Given the description of an element on the screen output the (x, y) to click on. 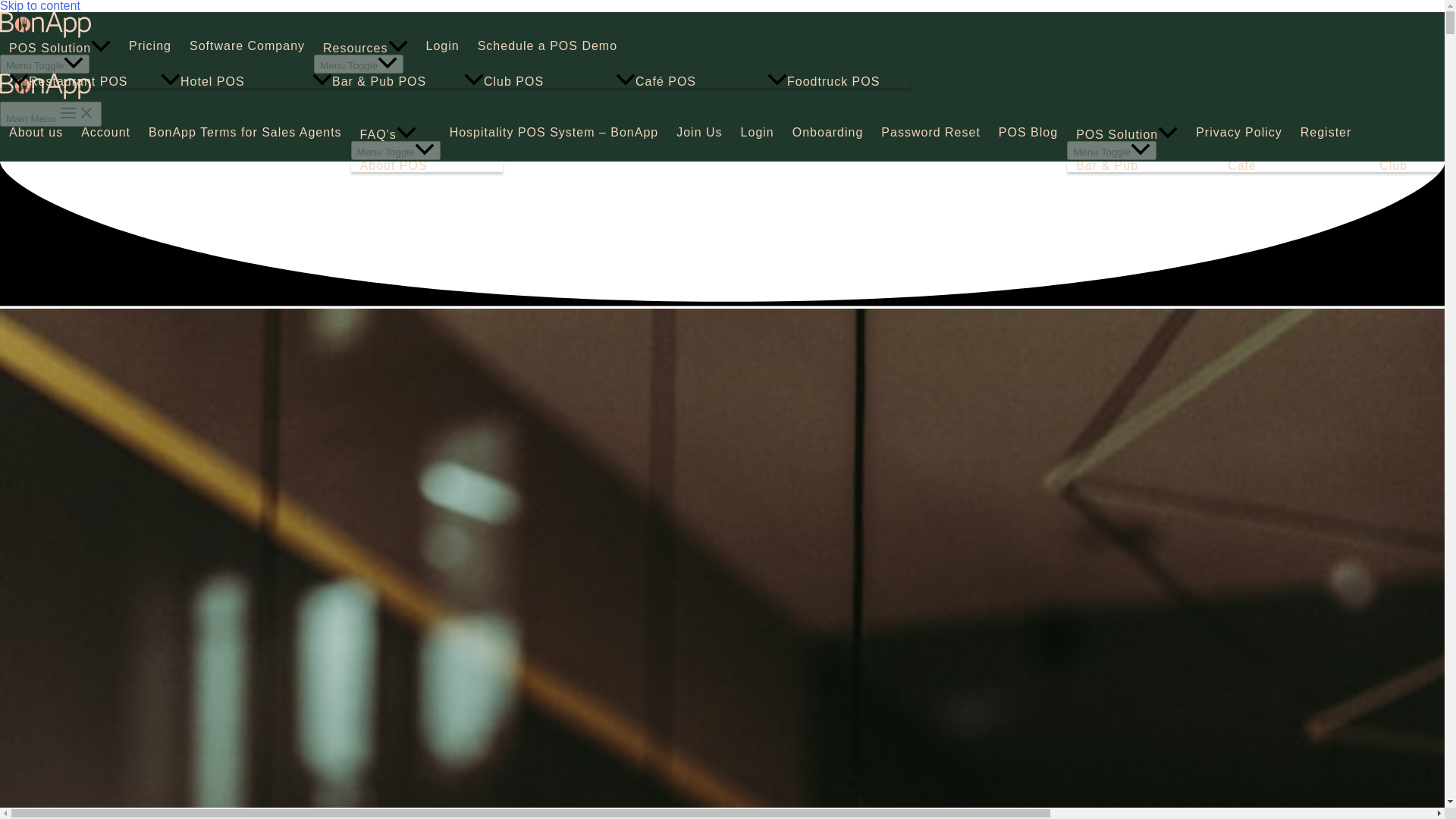
Login (442, 46)
Account (105, 132)
Hotel POS (226, 80)
Menu Toggle (395, 149)
Foodtruck POS (834, 80)
Resources (365, 47)
Menu Toggle (44, 63)
Pricing (149, 46)
Skip to content (40, 6)
About POS (426, 165)
